Given the description of an element on the screen output the (x, y) to click on. 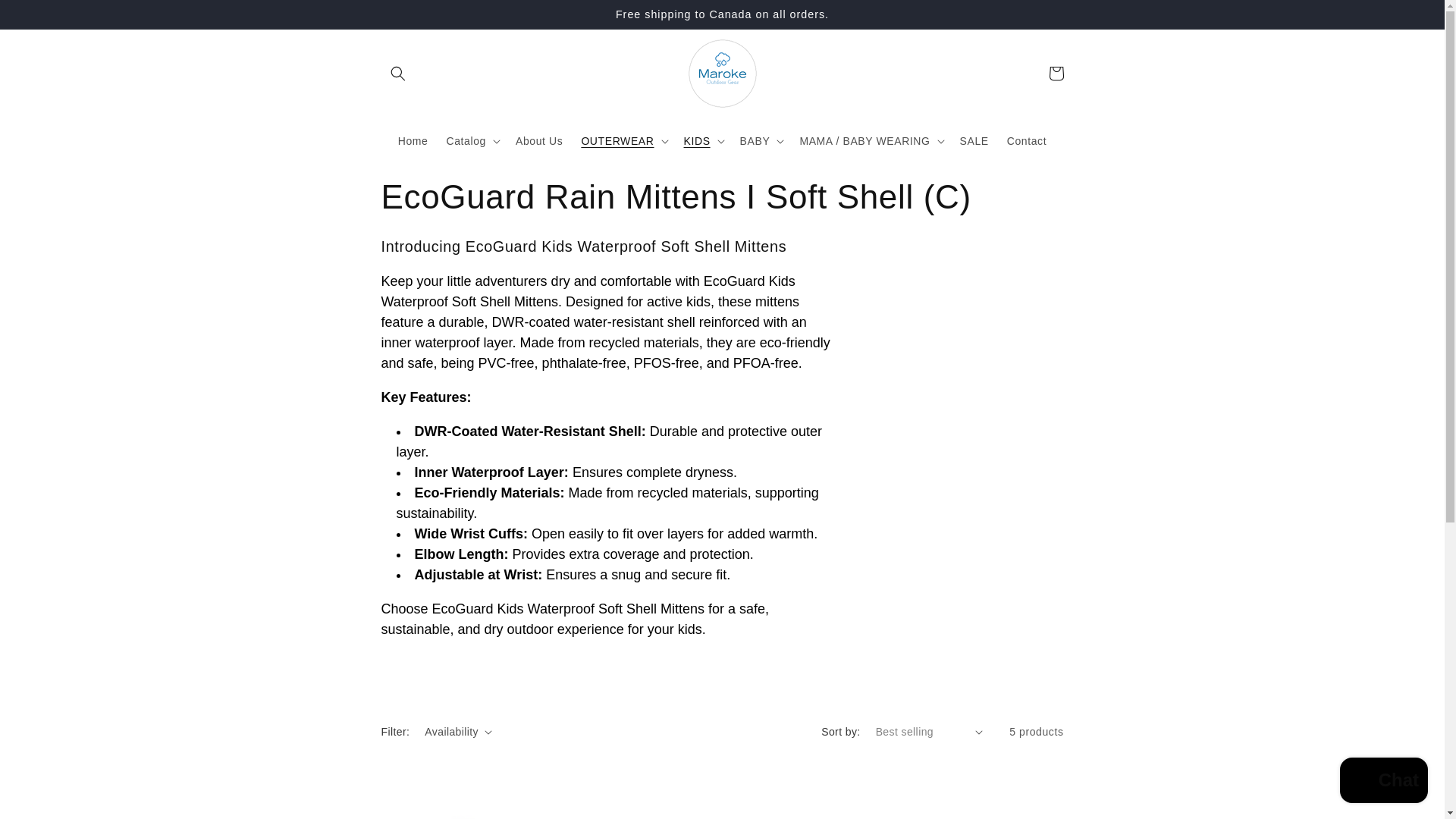
Skip to content (45, 17)
Shopify online store chat (1383, 781)
About Us (539, 141)
Home (413, 141)
